Given the description of an element on the screen output the (x, y) to click on. 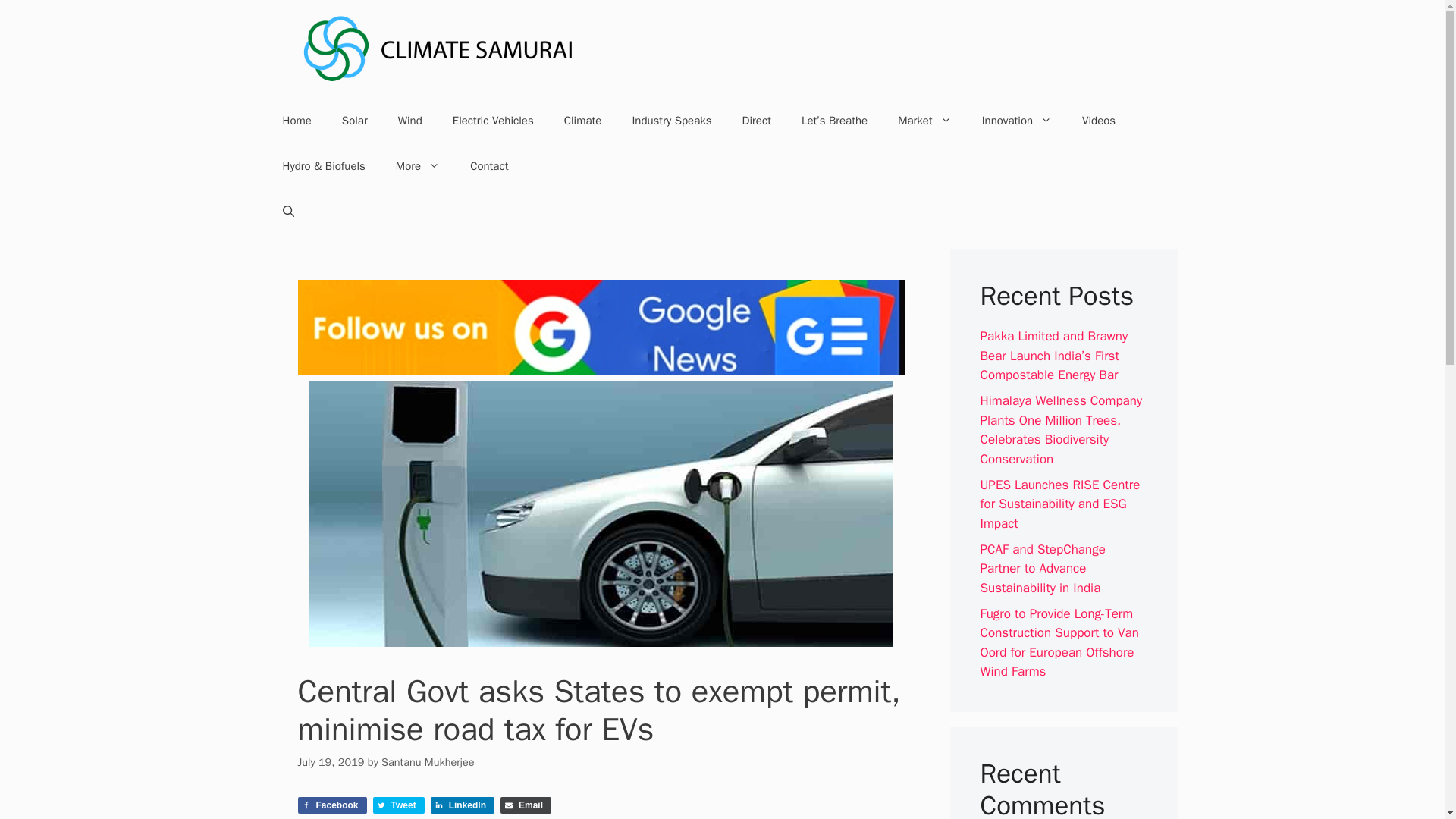
Tweet (398, 805)
More (417, 166)
Email (525, 805)
Wind (410, 120)
Santanu Mukherjee (427, 762)
View all posts by Santanu Mukherjee (427, 762)
Share on Twitter (398, 805)
Share via Email (525, 805)
Innovation (1016, 120)
Climate Samurai (438, 48)
